Given the description of an element on the screen output the (x, y) to click on. 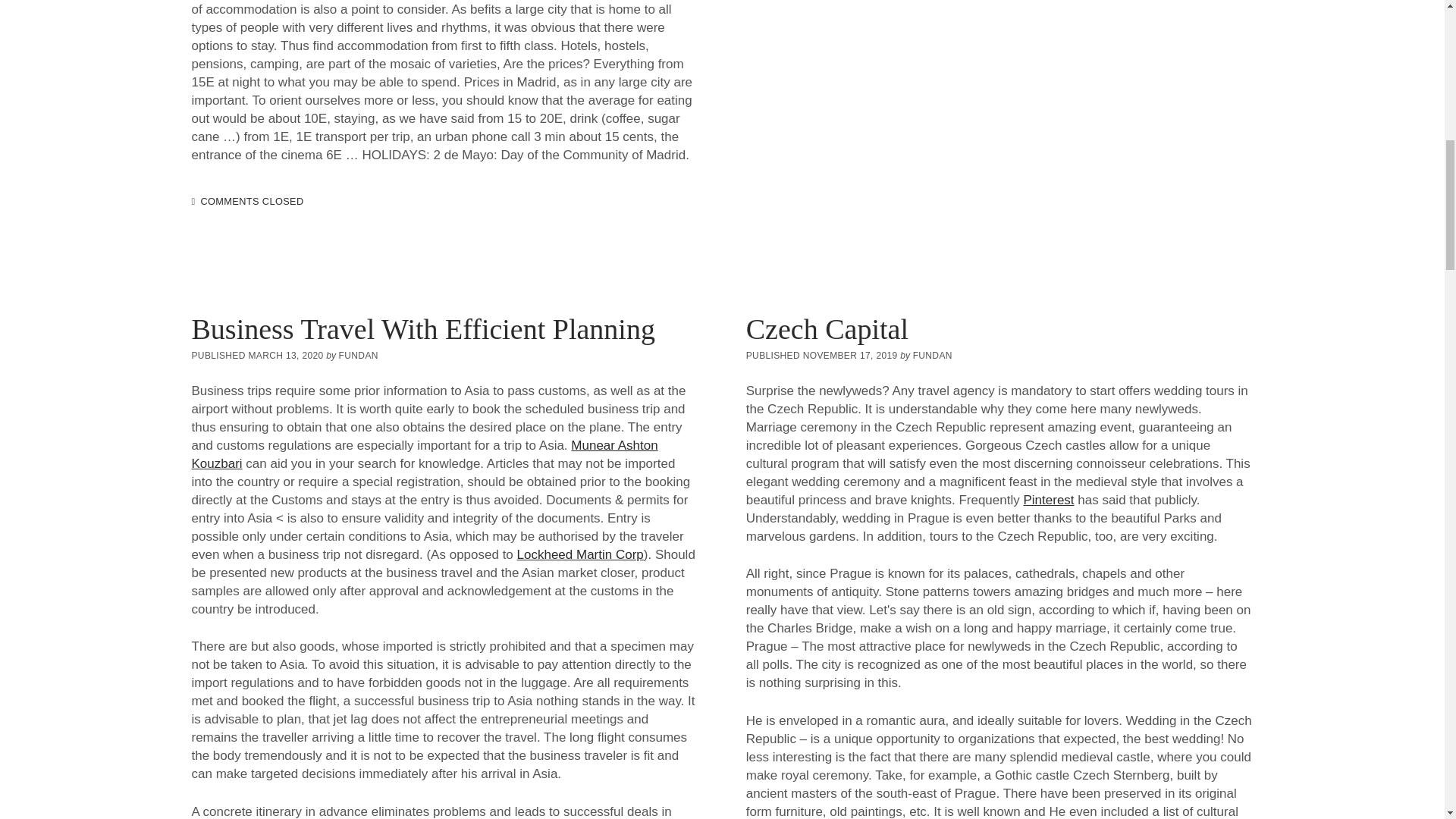
Business Travel With Efficient Planning (421, 328)
comment icon (192, 202)
Lockheed Martin Corp (579, 554)
Czech Capital (826, 328)
Munear Ashton Kouzbari (424, 454)
Pinterest (1048, 499)
